Given the description of an element on the screen output the (x, y) to click on. 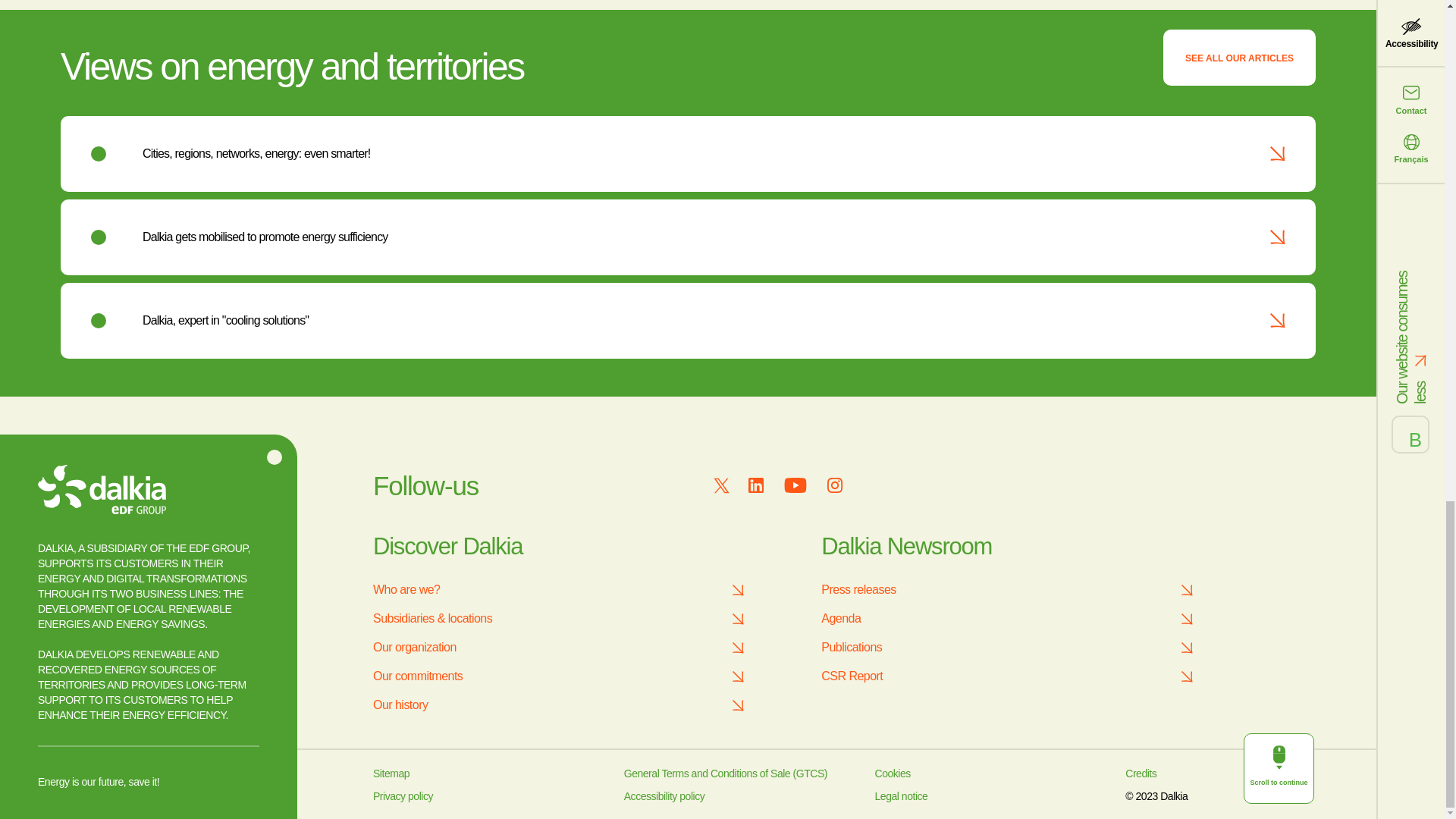
Instagram - New window (835, 484)
Dalkia, expert in "cooling solutions" (225, 319)
Privacy policy - New window (402, 796)
Instagram (835, 484)
Youtube (795, 484)
Dalkia gets mobilised to promote energy sufficiency (265, 237)
Our organization (563, 647)
X - New window (721, 484)
Our history (563, 704)
Who are we? (563, 589)
Dalkia gets mobilised to promote energy sufficiency (265, 237)
LinkedIn (755, 484)
Cities, regions, networks, energy: even smarter! (255, 153)
Dalkia agenda (1011, 618)
Youtube - New window (795, 484)
